Given the description of an element on the screen output the (x, y) to click on. 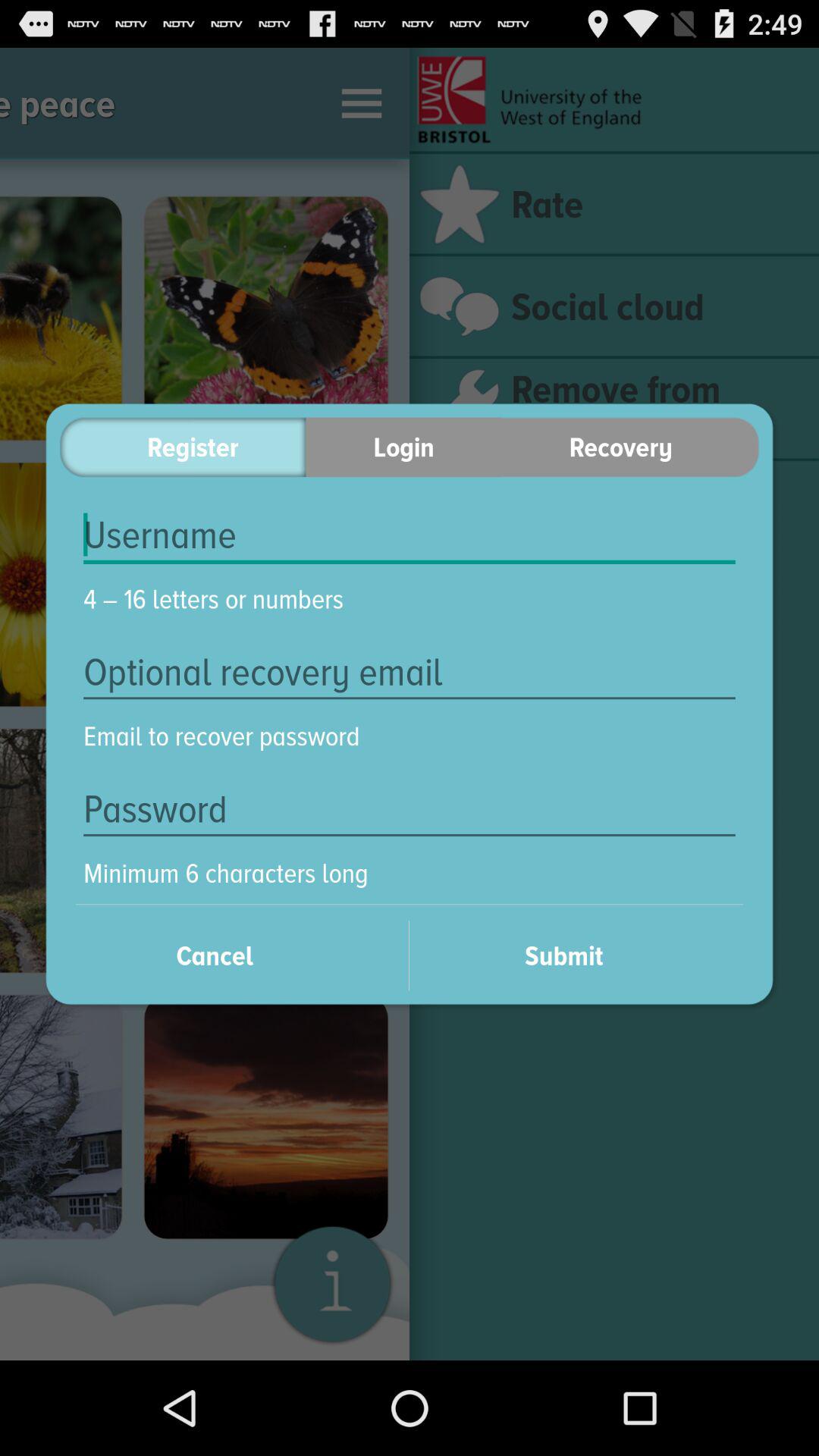
click the submit item (584, 955)
